Given the description of an element on the screen output the (x, y) to click on. 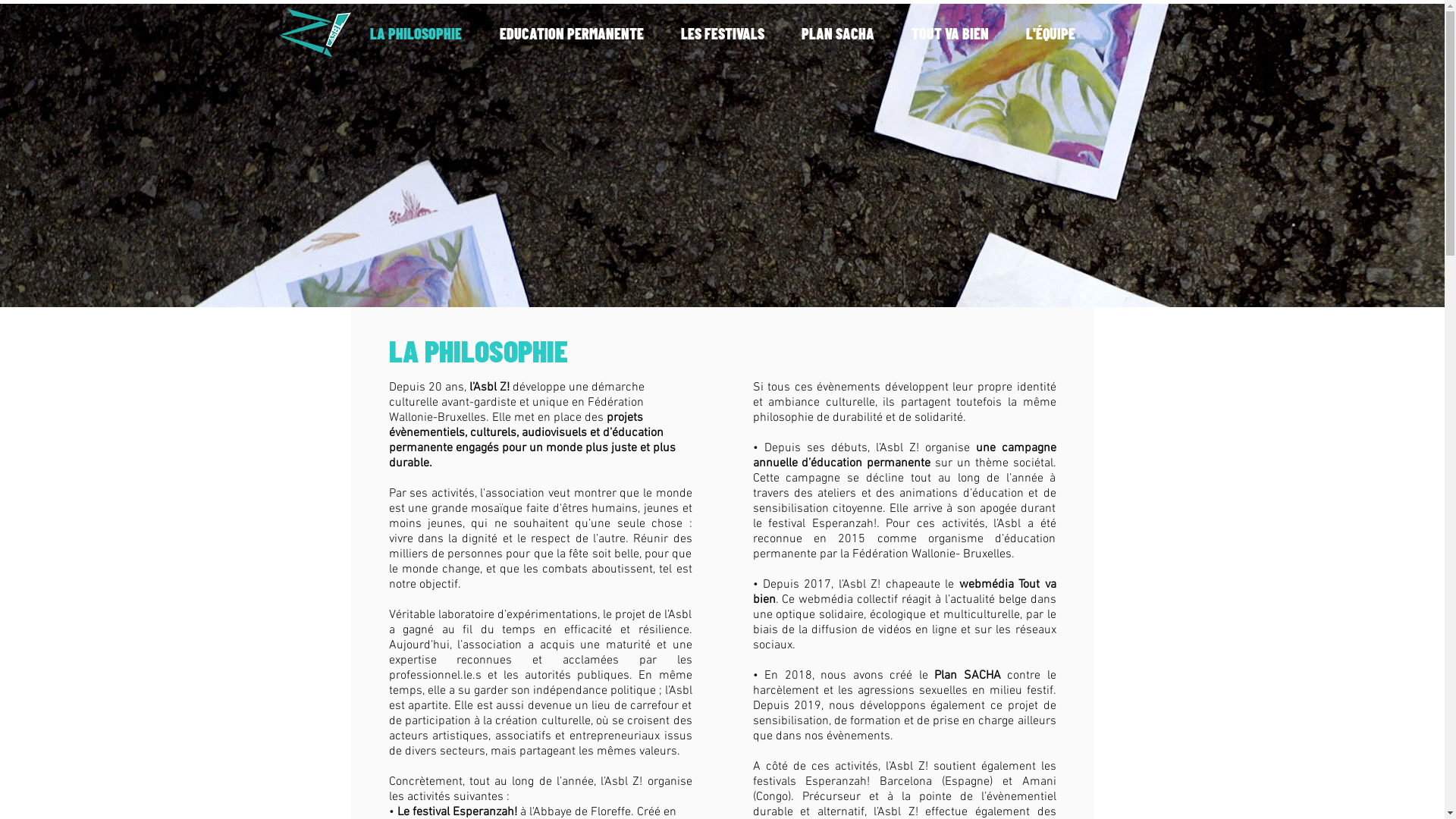
LES FESTIVALS Element type: text (722, 33)
PLAN SACHA Element type: text (837, 33)
EDUCATION PERMANENTE Element type: text (571, 33)
LA PHILOSOPHIE Element type: text (415, 33)
TOUT VA BIEN Element type: text (950, 33)
